Given the description of an element on the screen output the (x, y) to click on. 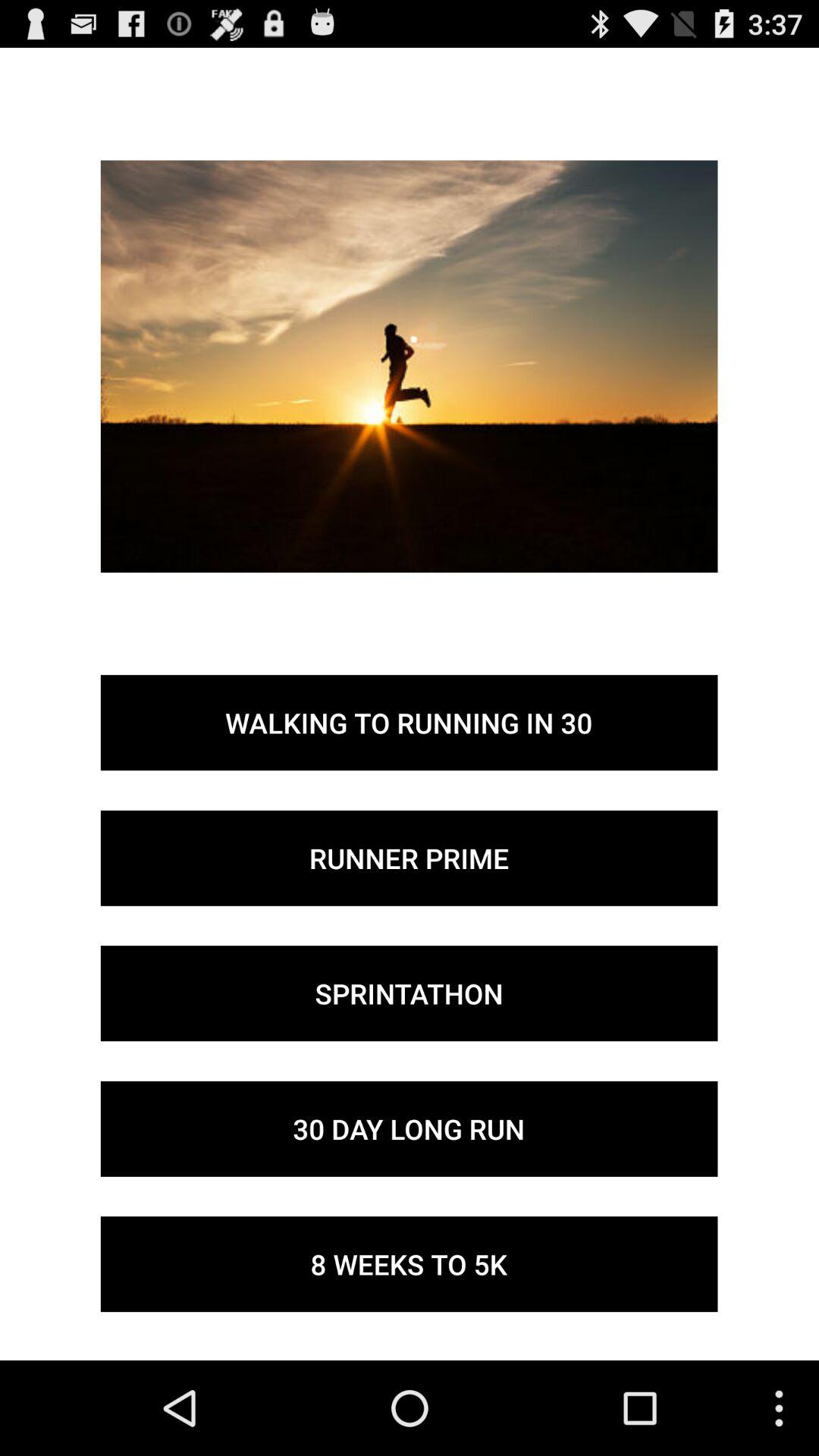
turn on button below the 30 day long item (408, 1264)
